Given the description of an element on the screen output the (x, y) to click on. 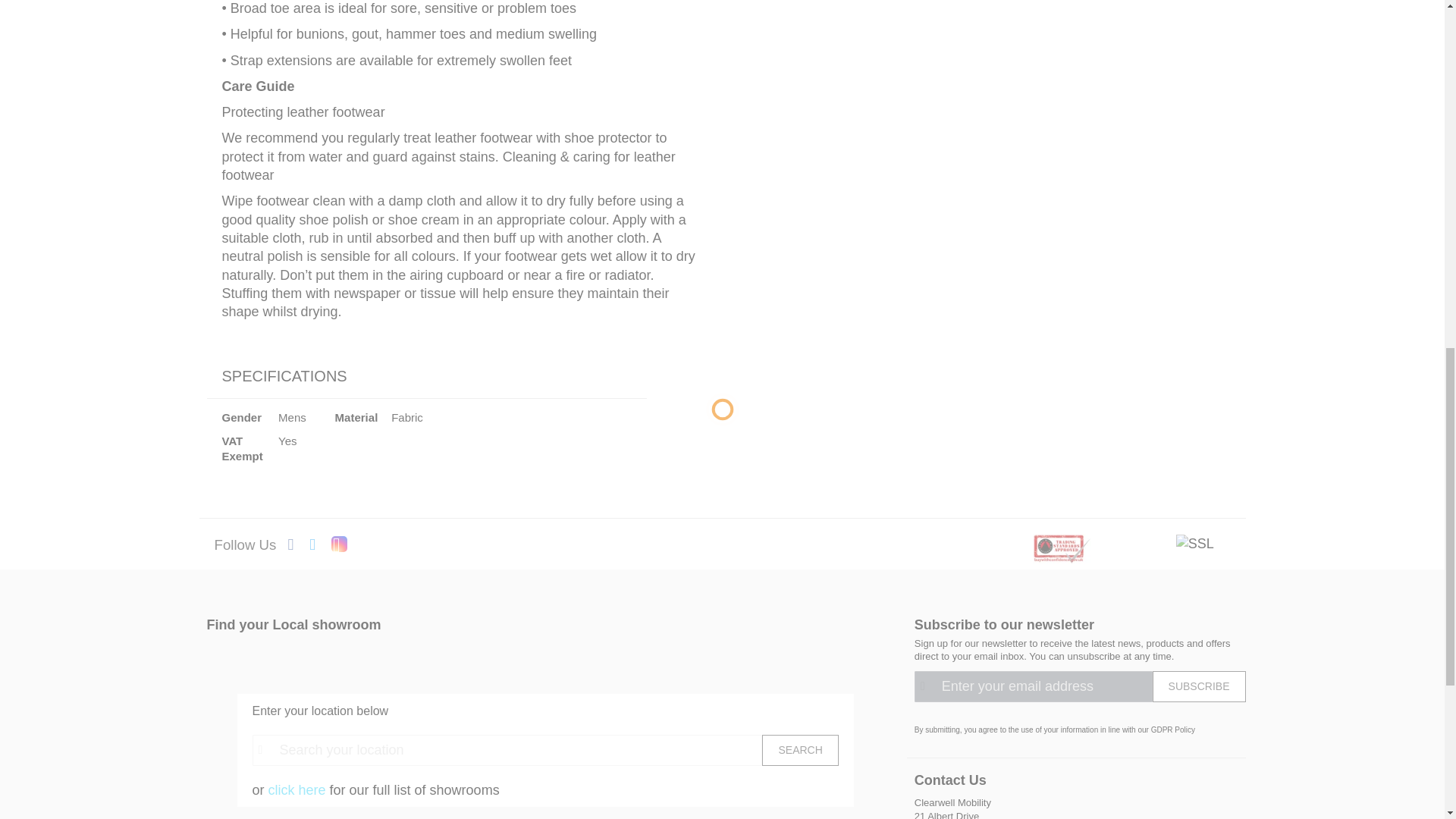
Search (799, 749)
GlobalSign Site Seal (1195, 543)
Subscribe (1199, 685)
